Given the description of an element on the screen output the (x, y) to click on. 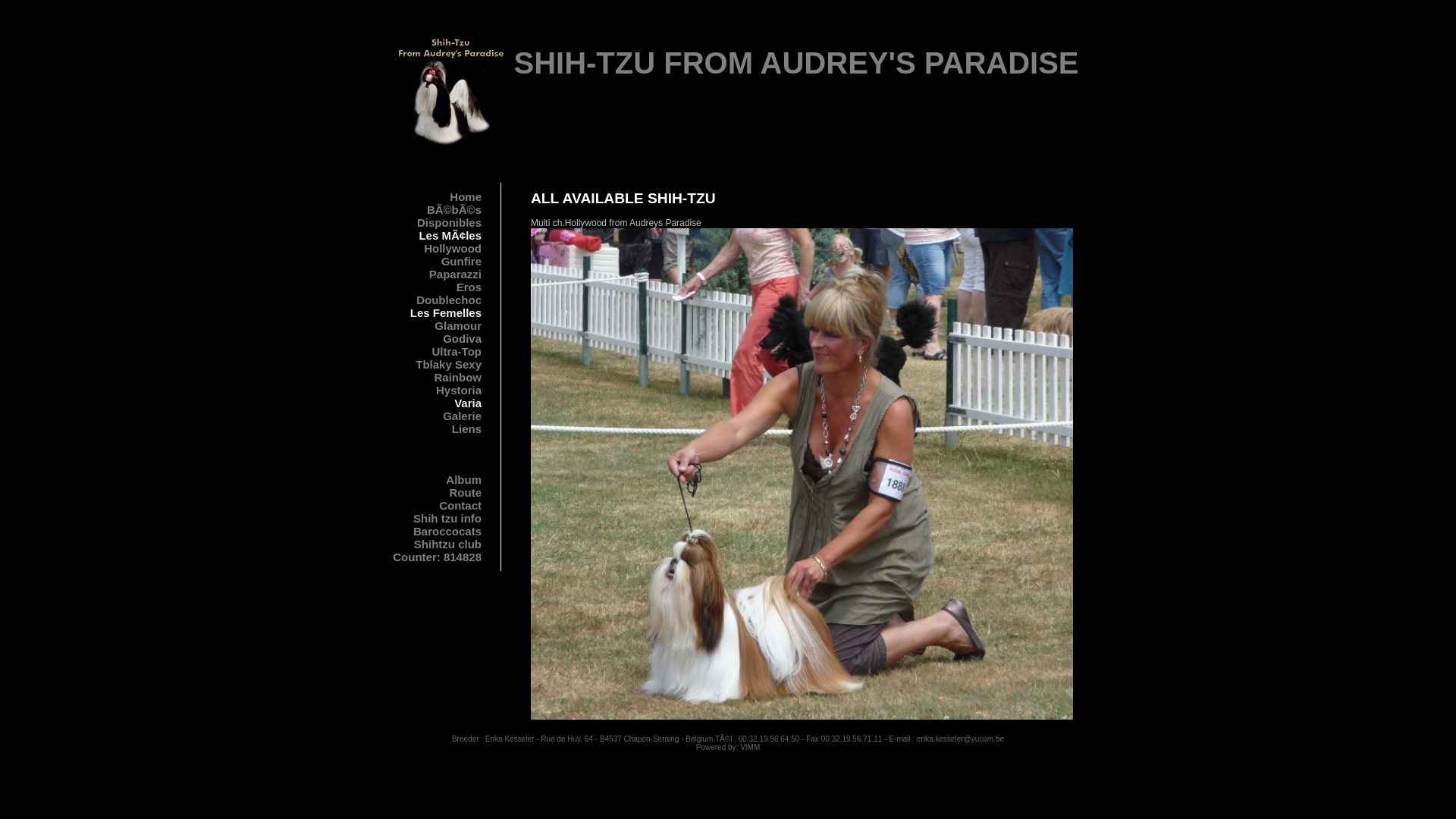
Route Element type: text (426, 492)
Multi ch.hollywood from audreys paradise Element type: hover (801, 473)
Contact Element type: text (426, 504)
Gunfire Element type: text (426, 260)
Shihtzu club Element type: text (426, 543)
Galerie Element type: text (426, 415)
Doublechoc Element type: text (426, 299)
Shih tzu info Element type: text (426, 517)
Liens Element type: text (426, 428)
SHIH-TZU FROM AUDREY'S PARADISE Element type: text (795, 62)
Glamour Element type: text (426, 325)
Baroccocats Element type: text (426, 530)
VIMM Element type: text (749, 747)
Hystoria Element type: text (426, 389)
Godiva Element type: text (426, 338)
Eros Element type: text (426, 286)
Home Element type: text (426, 196)
Disponibles Element type: text (426, 222)
Tblaky Sexy Element type: text (426, 363)
Album Element type: text (426, 479)
Rainbow Element type: text (426, 376)
Hollywood Element type: text (426, 247)
ALL AVAILABLE SHIH-TZU Element type: text (622, 198)
Paparazzi Element type: text (426, 273)
Ultra-Top Element type: text (426, 351)
